Given the description of an element on the screen output the (x, y) to click on. 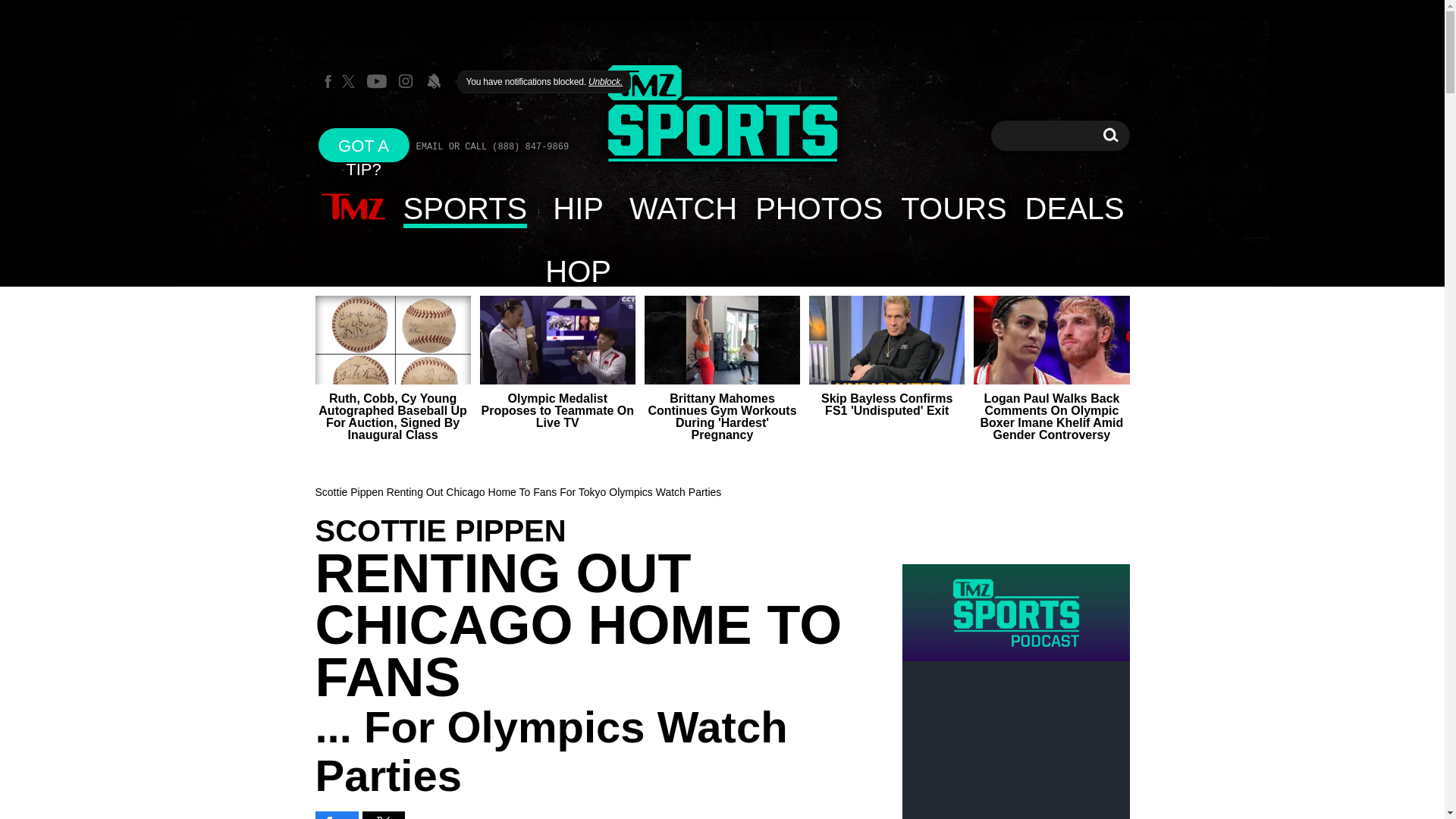
Skip to main content (1110, 135)
PHOTOS (465, 207)
TMZ Sports (818, 207)
HIP HOP (722, 115)
WATCH (577, 207)
DEALS (682, 207)
TOURS (1075, 207)
Search (952, 207)
NEWS (1110, 134)
GOT A TIP? (353, 207)
TMZ Sports (363, 144)
